Given the description of an element on the screen output the (x, y) to click on. 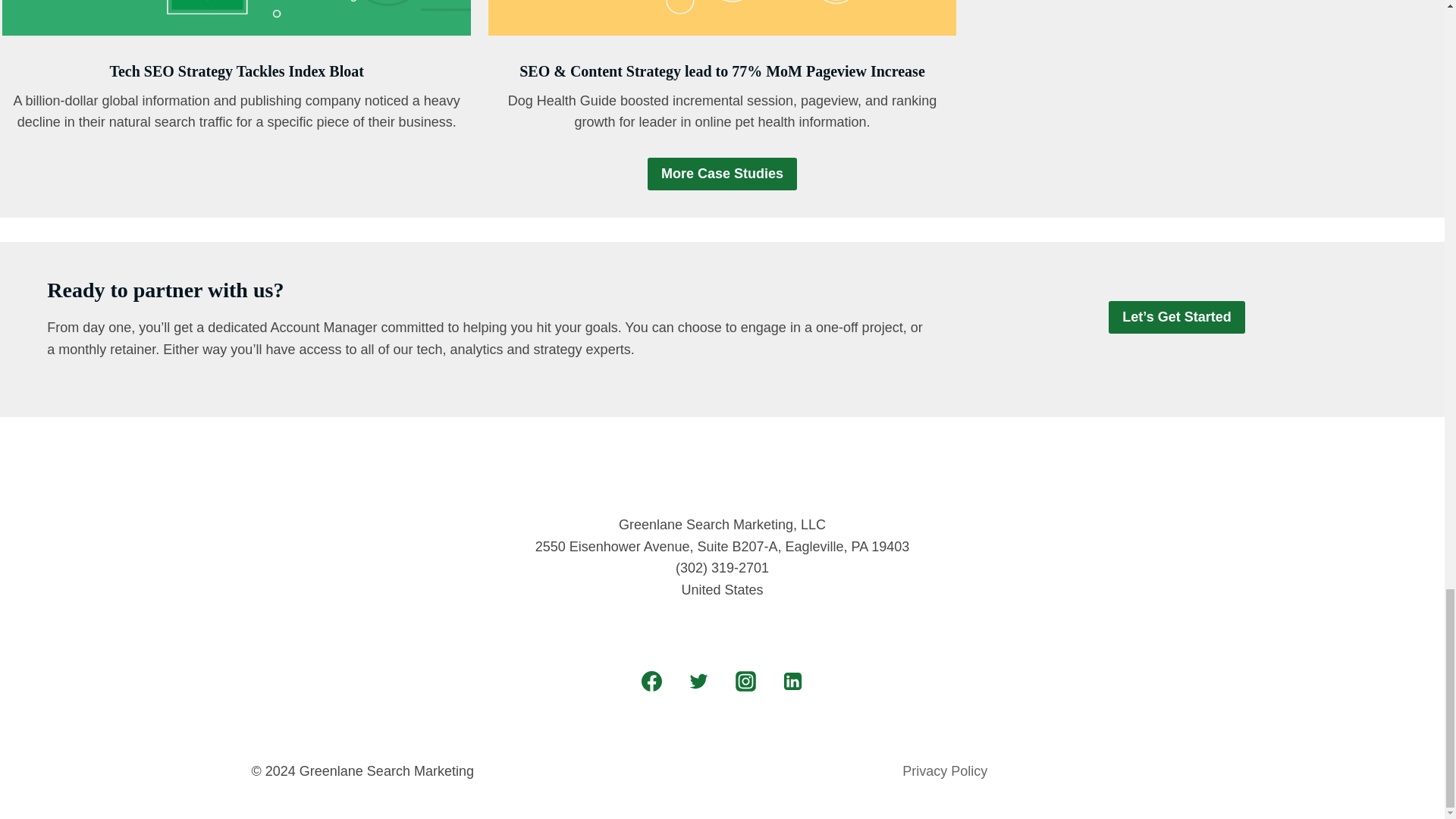
Tech SEO Strategy Tackles Index Bloat (235, 70)
Privacy Policy (945, 771)
More Case Studies (721, 174)
